Given the description of an element on the screen output the (x, y) to click on. 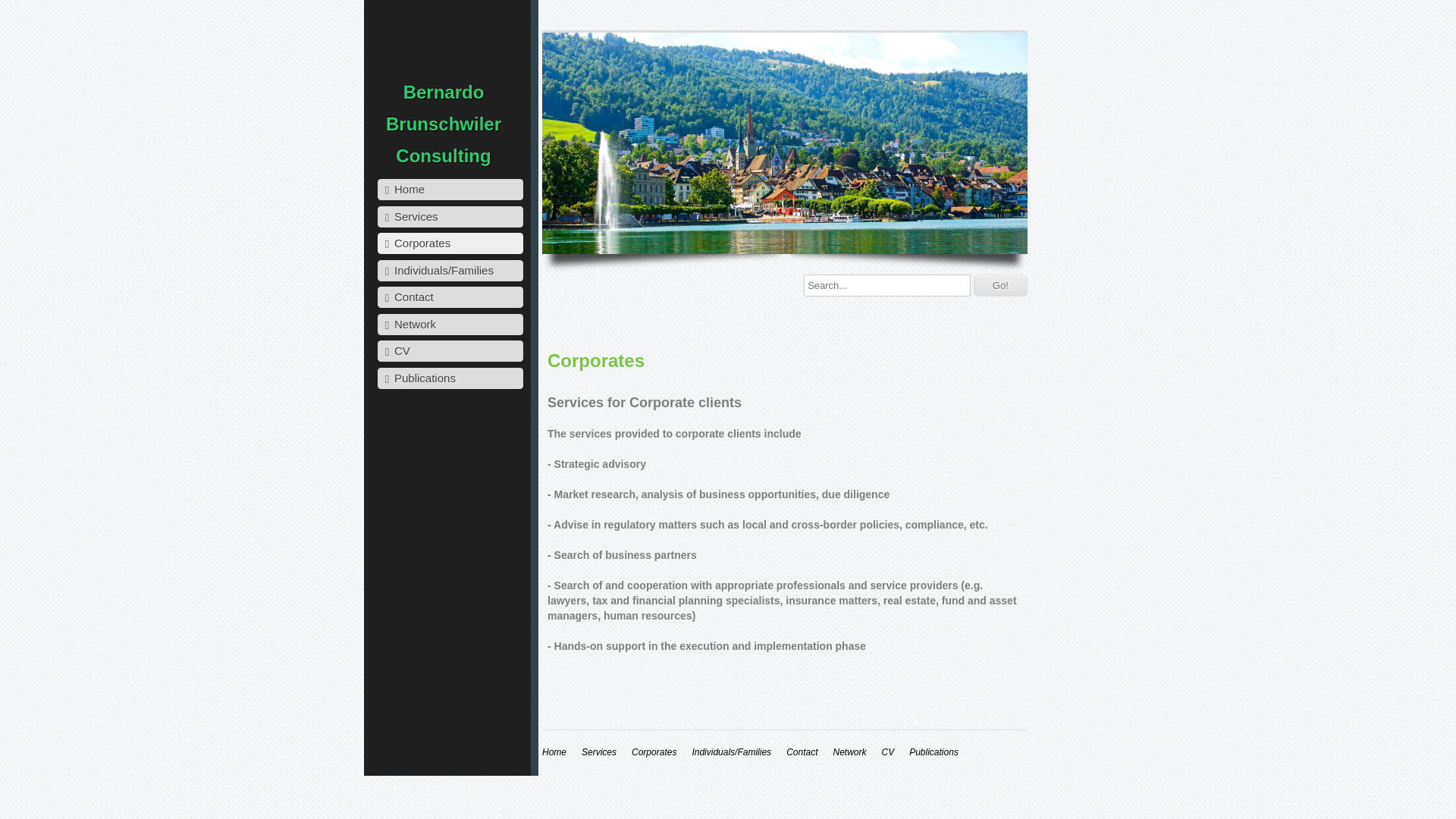
Individuals/Families Element type: text (731, 751)
Home Element type: text (554, 751)
Bernardo Brunschwiler Consulting Element type: text (443, 123)
Network Element type: text (450, 324)
Contact Element type: text (801, 751)
Services Element type: text (598, 751)
Corporates Element type: text (653, 751)
Individuals/Families Element type: text (450, 269)
Publications Element type: text (933, 751)
Services Element type: text (450, 216)
Network Element type: text (849, 751)
Publications Element type: text (450, 377)
Contact Element type: text (450, 296)
CV Element type: text (887, 751)
Corporates Element type: text (450, 243)
Go! Element type: text (1000, 285)
CV Element type: text (450, 350)
Home Element type: text (450, 189)
